Given the description of an element on the screen output the (x, y) to click on. 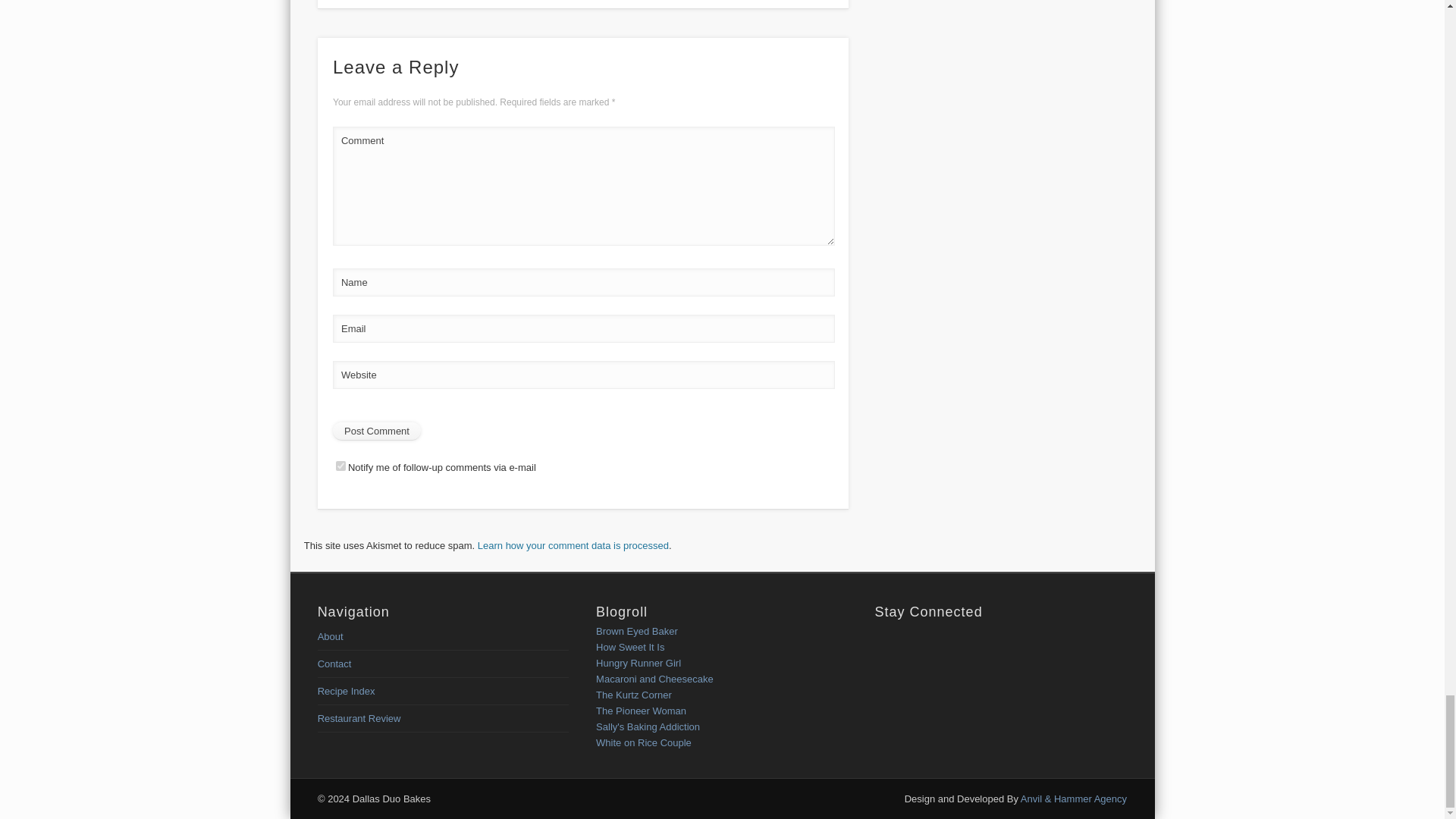
Learn how your comment data is processed (572, 545)
Post Comment (376, 431)
Post Comment (376, 431)
